Given the description of an element on the screen output the (x, y) to click on. 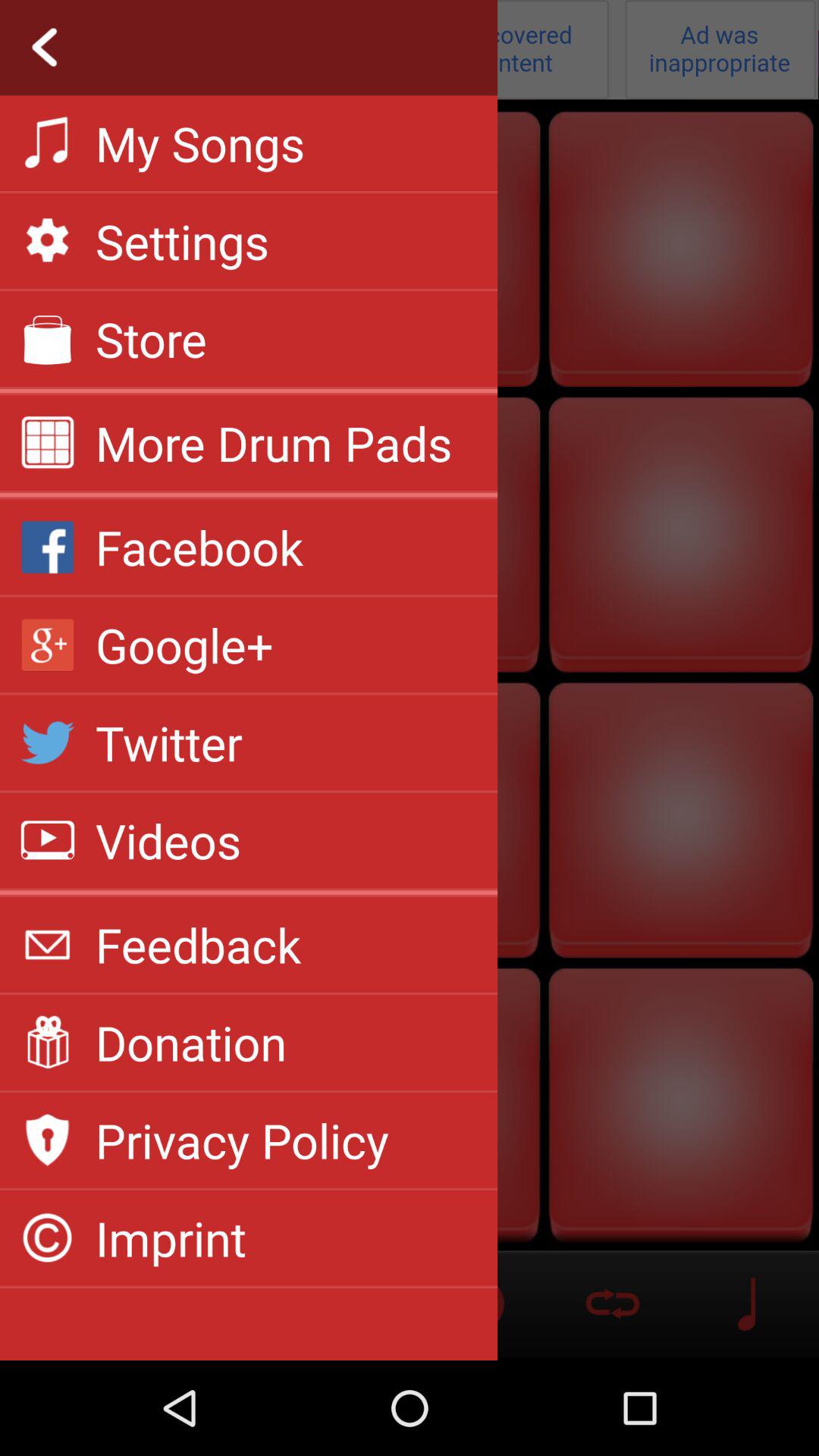
turn on the app below settings app (151, 338)
